Given the description of an element on the screen output the (x, y) to click on. 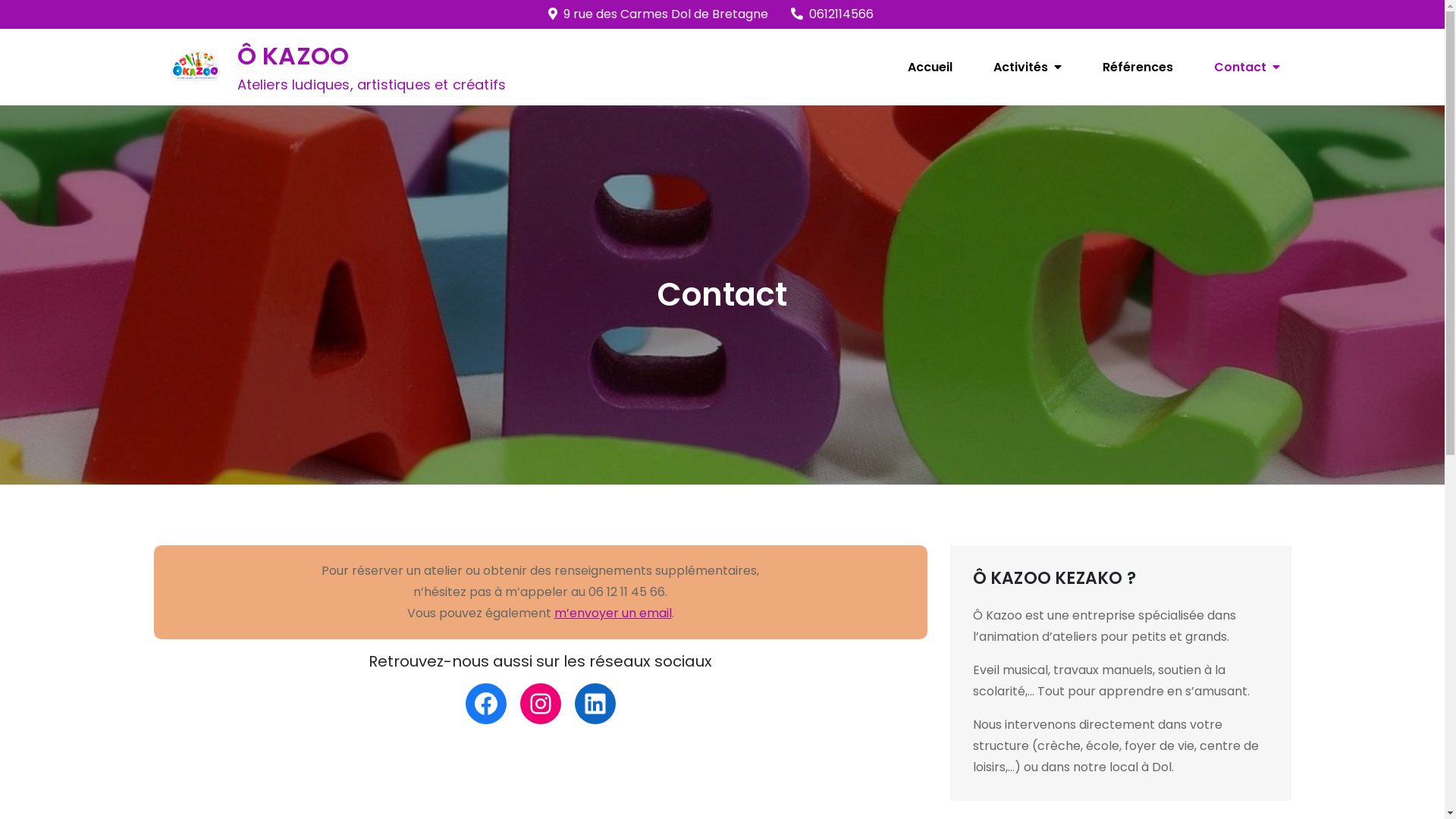
LinkedIn Element type: text (594, 703)
Contact Element type: text (1246, 67)
Instagram Element type: text (540, 703)
Accueil Element type: text (928, 67)
0612114566 Element type: text (831, 13)
Facebook Element type: text (485, 703)
